Given the description of an element on the screen output the (x, y) to click on. 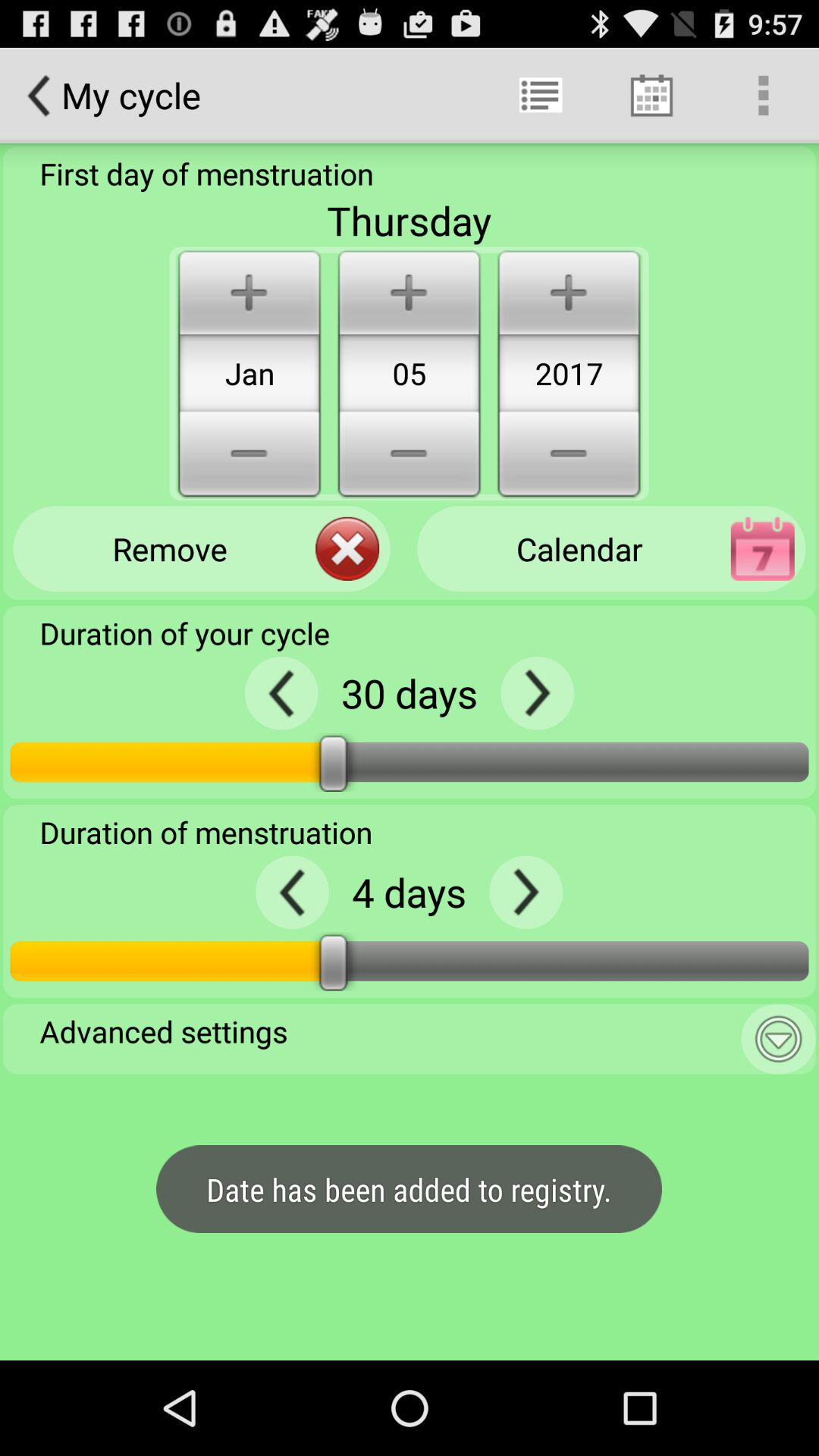
back (292, 892)
